Given the description of an element on the screen output the (x, y) to click on. 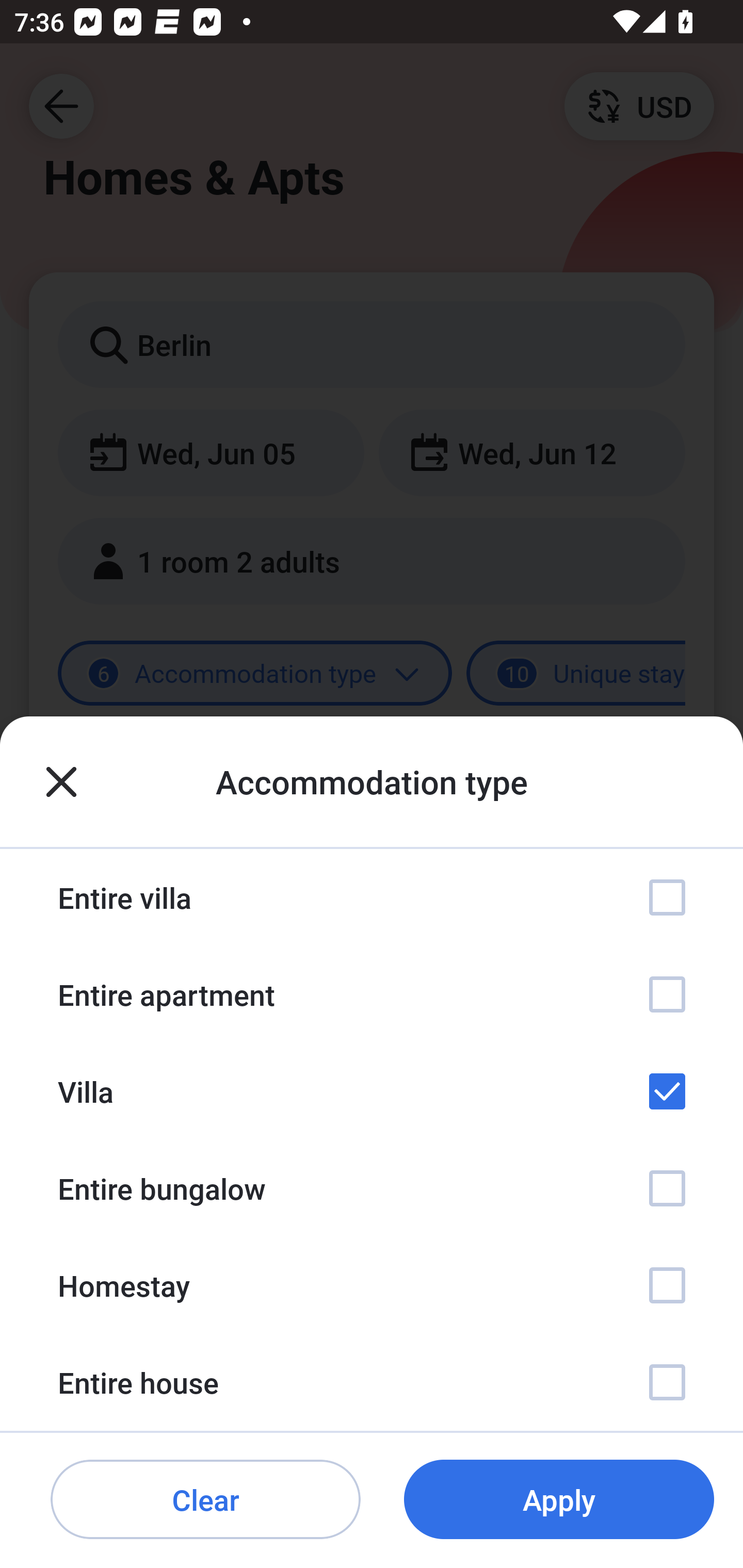
Entire villa (371, 897)
Entire apartment (371, 994)
Villa (371, 1091)
Entire bungalow (371, 1188)
Homestay (371, 1284)
Entire house (371, 1382)
Clear (205, 1499)
Apply (559, 1499)
